Given the description of an element on the screen output the (x, y) to click on. 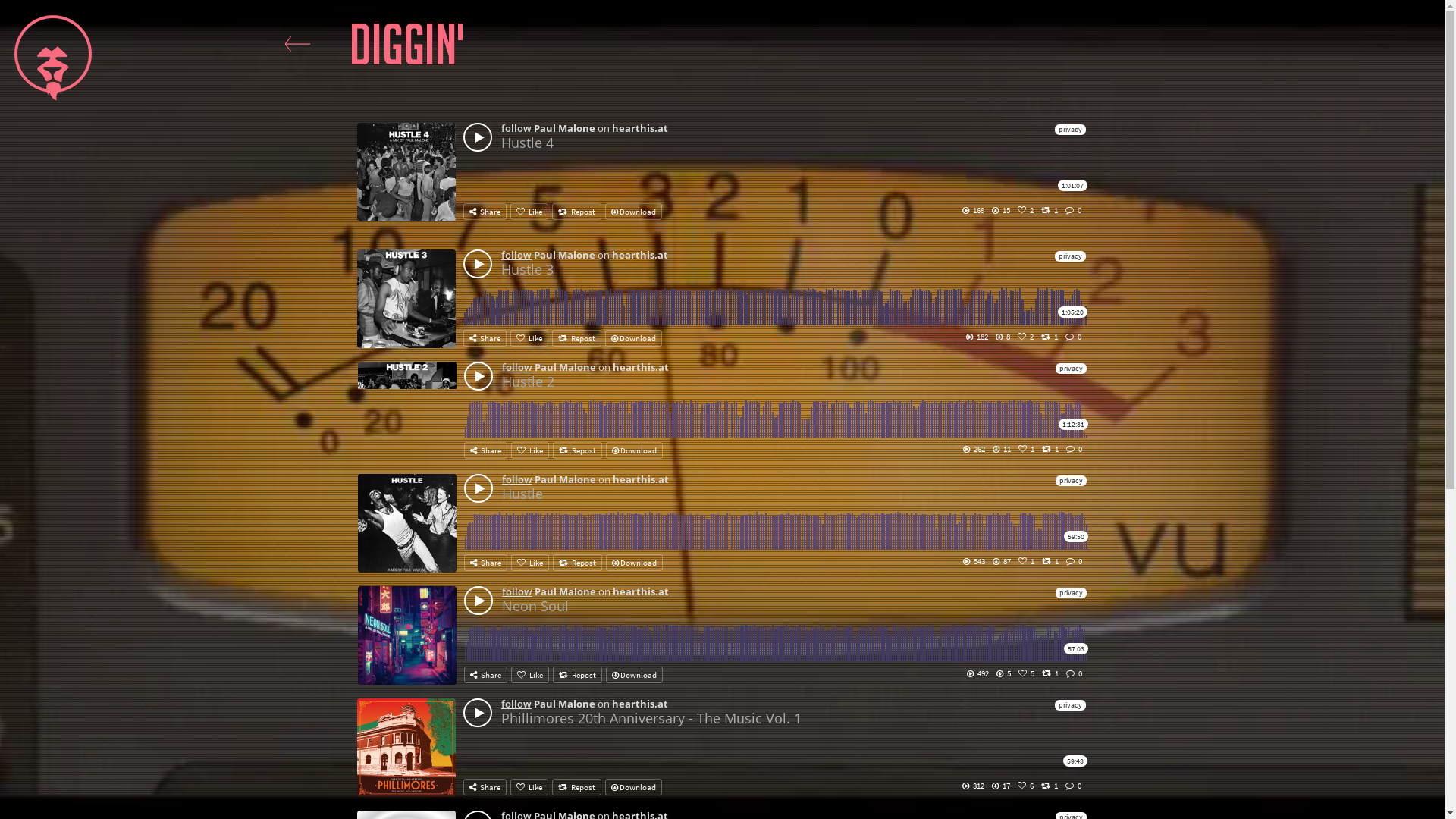
Embedded Content Element type: hover (722, 636)
Embedded Content Element type: hover (722, 523)
Embedded Content Element type: hover (722, 411)
Embedded Content Element type: hover (721, 748)
Embedded Content Element type: hover (721, 179)
Embedded Content Element type: hover (721, 299)
